Given the description of an element on the screen output the (x, y) to click on. 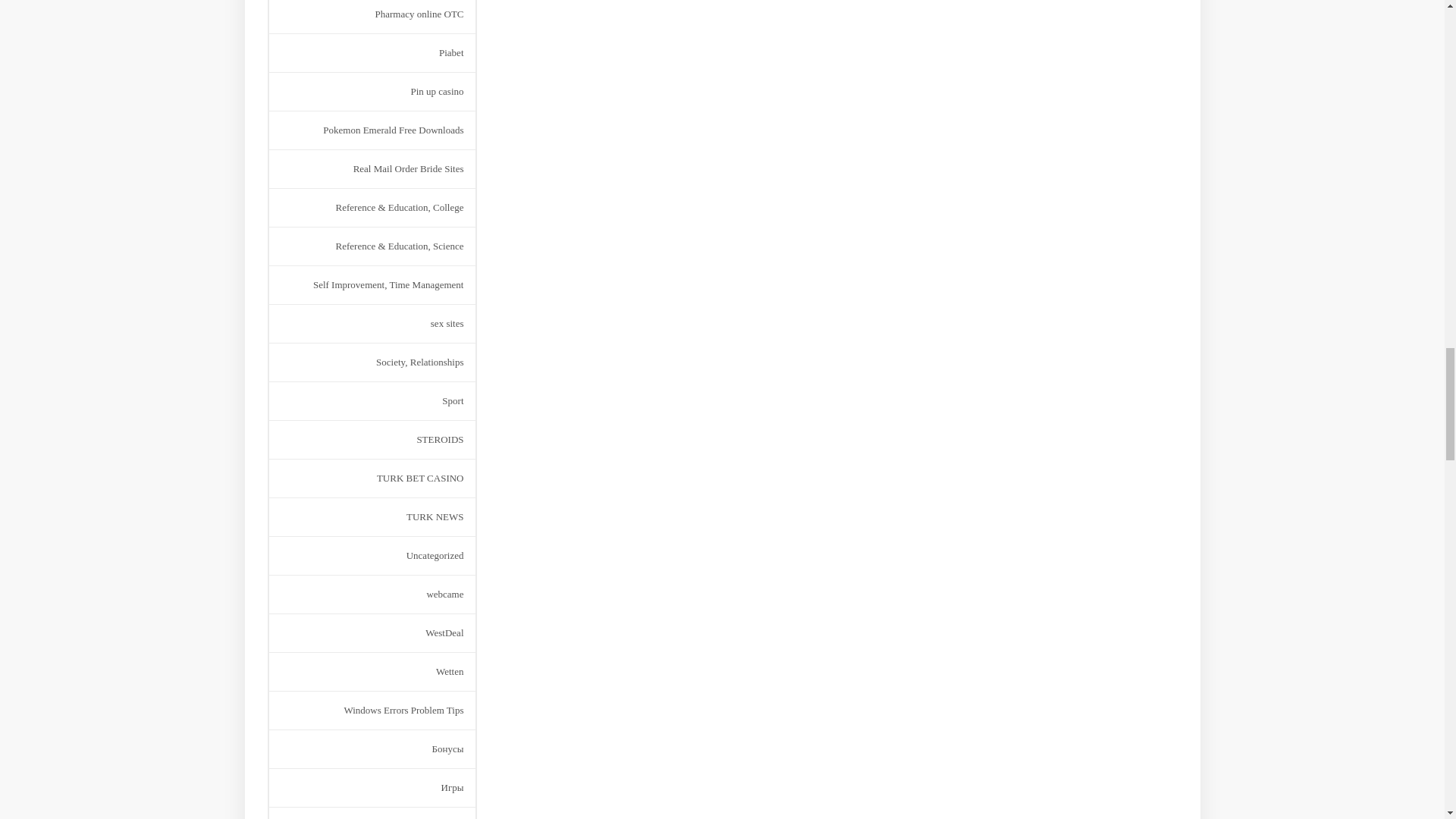
Society, Relationships (419, 362)
Self Improvement, Time Management (388, 284)
